Given the description of an element on the screen output the (x, y) to click on. 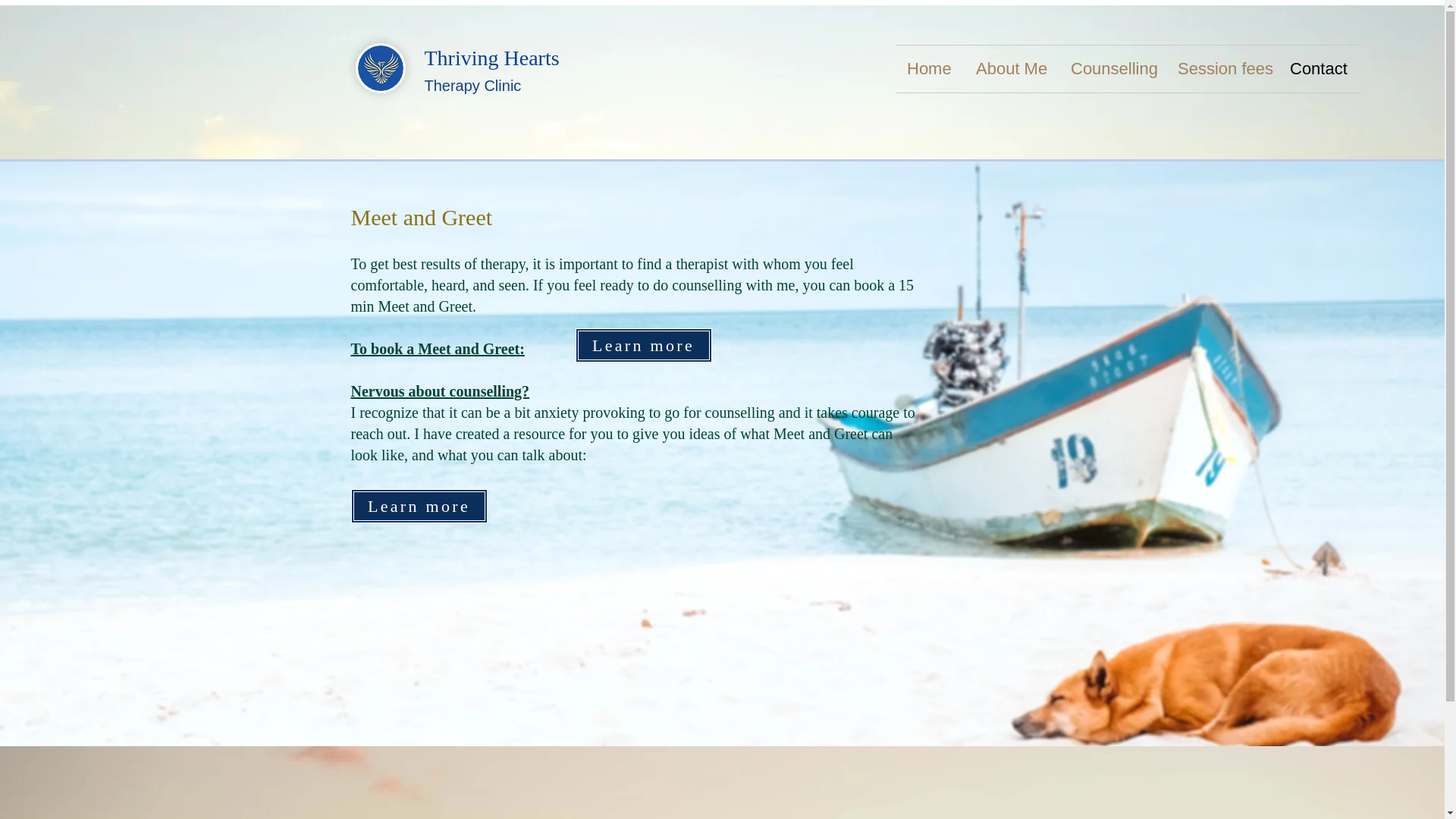
Learn more (643, 345)
Learn more (418, 505)
About Me (1011, 68)
Session fees (1222, 68)
Contact (1319, 68)
Counselling (1112, 68)
Home (929, 68)
